Given the description of an element on the screen output the (x, y) to click on. 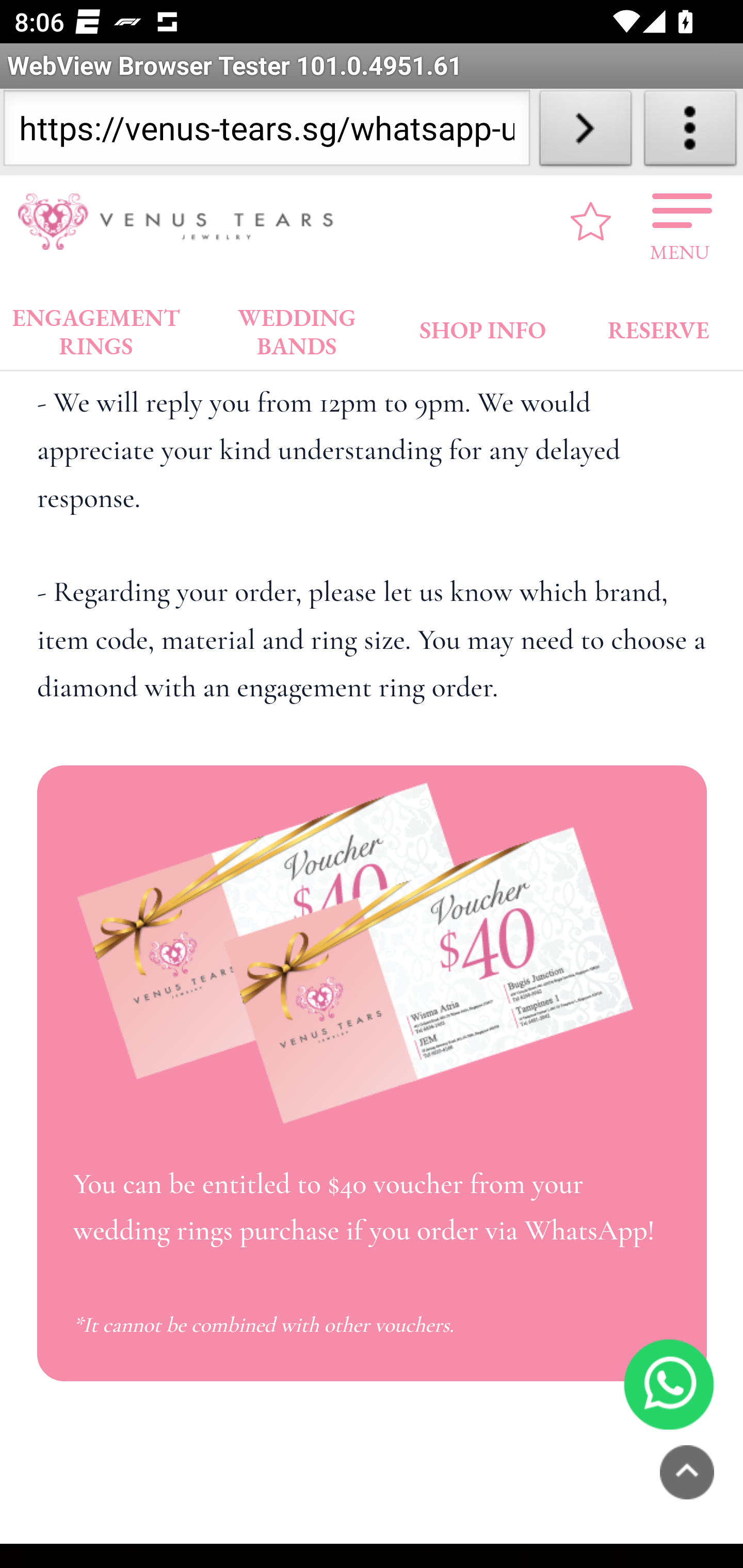
https://venus-tears.sg/whatsapp-us (266, 132)
Load URL (585, 132)
About WebView (690, 132)
favourite (591, 220)
MENU (680, 221)
VENUS TEARS (181, 221)
ENGAGEMENT RINGS ENGAGEMENT RINGS (96, 327)
WEDDING BANDS WEDDING BANDS (296, 327)
SHOP INFO (482, 325)
RESERVE (657, 325)
6585184875 (668, 1385)
PAGETOP (686, 1472)
